Given the description of an element on the screen output the (x, y) to click on. 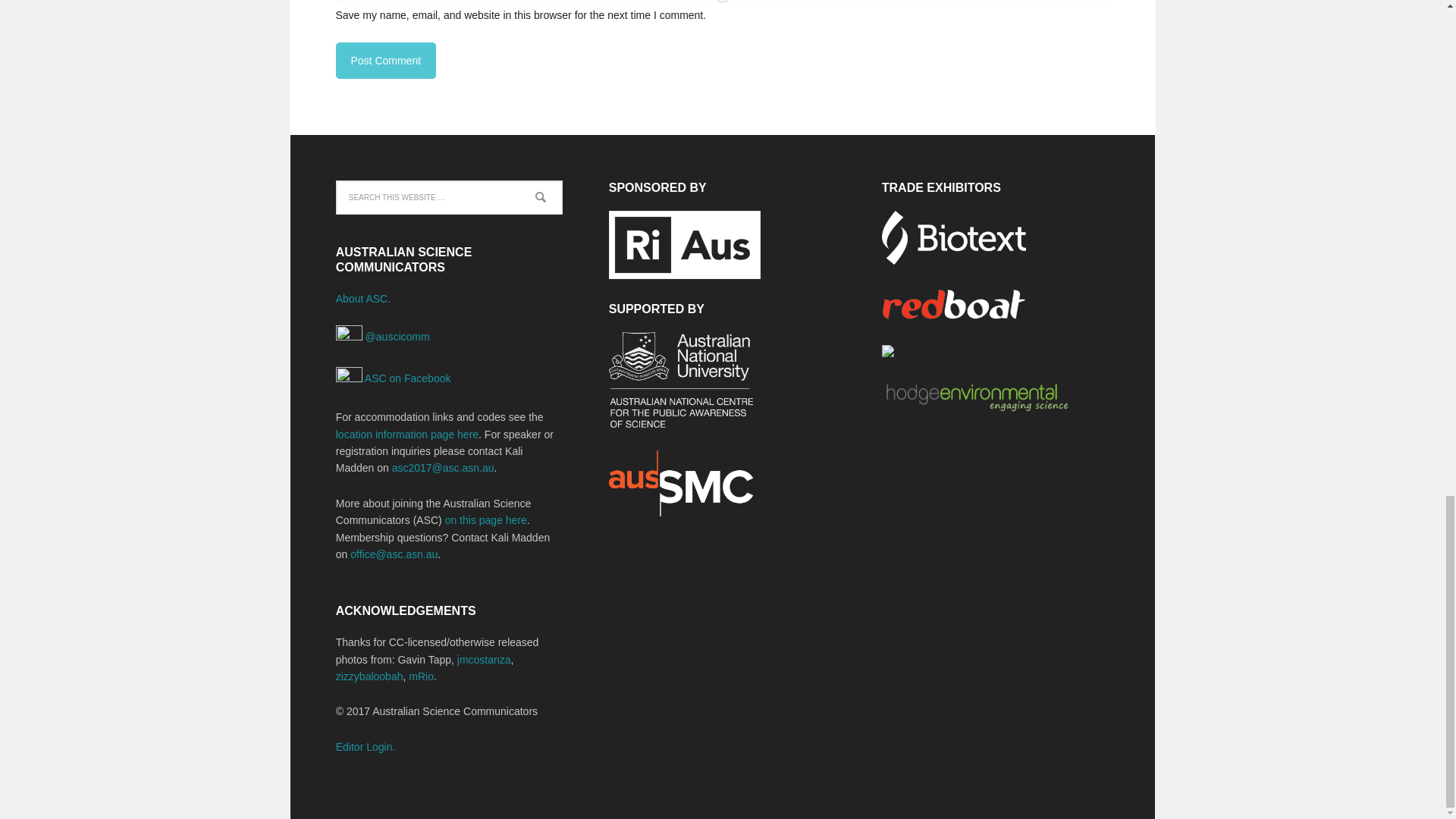
Editor Login. (366, 746)
About ASC. (363, 298)
location information page here (407, 434)
ASC on Facebook (393, 378)
jmcostanza (484, 659)
Post Comment (384, 60)
mRio (421, 676)
